Given the description of an element on the screen output the (x, y) to click on. 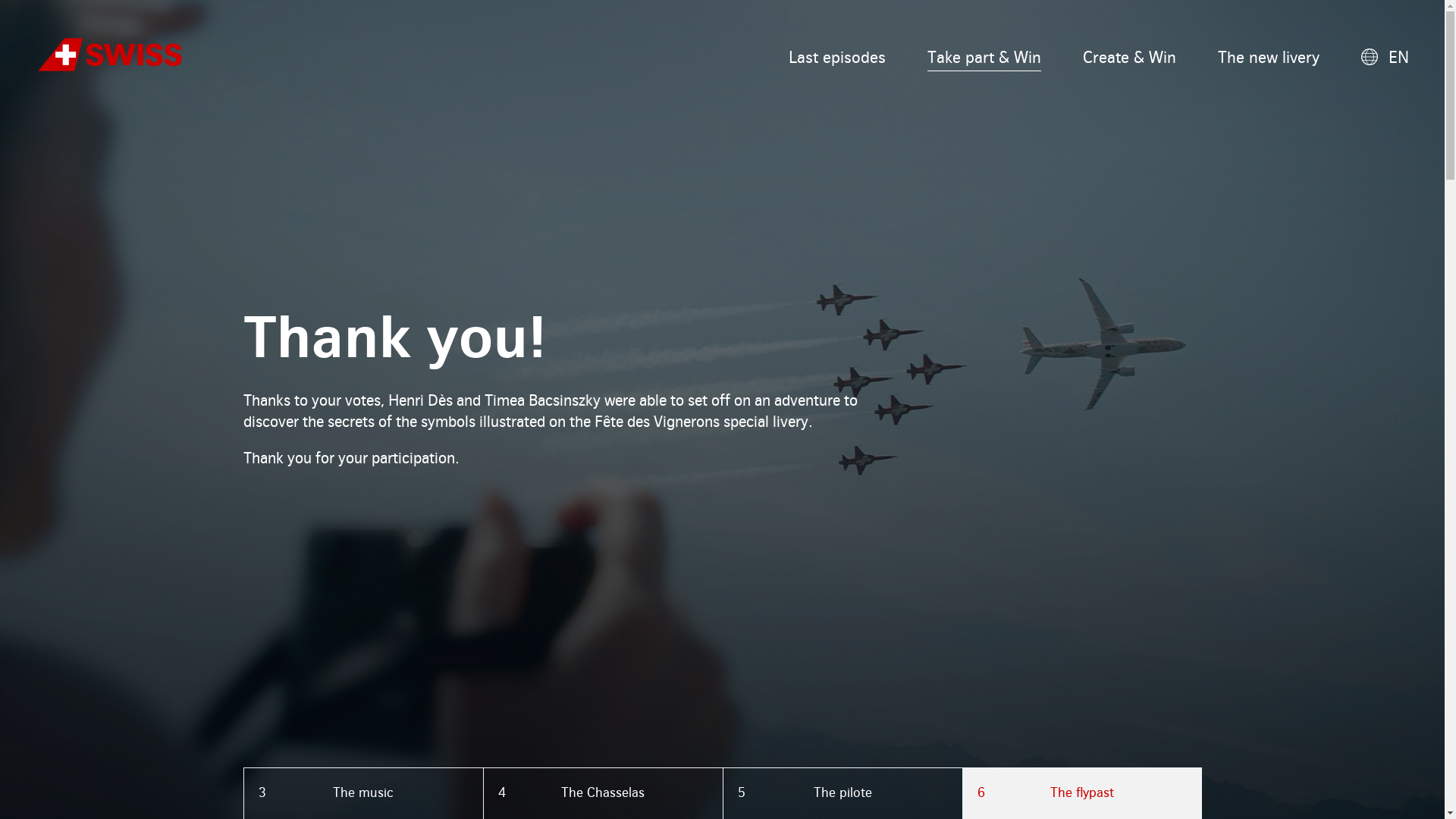
Take part & Win Element type: text (983, 58)
Create & Win Element type: text (1129, 58)
The new livery Element type: text (1268, 58)
Last episodes Element type: text (836, 58)
EN Element type: text (1383, 58)
